Given the description of an element on the screen output the (x, y) to click on. 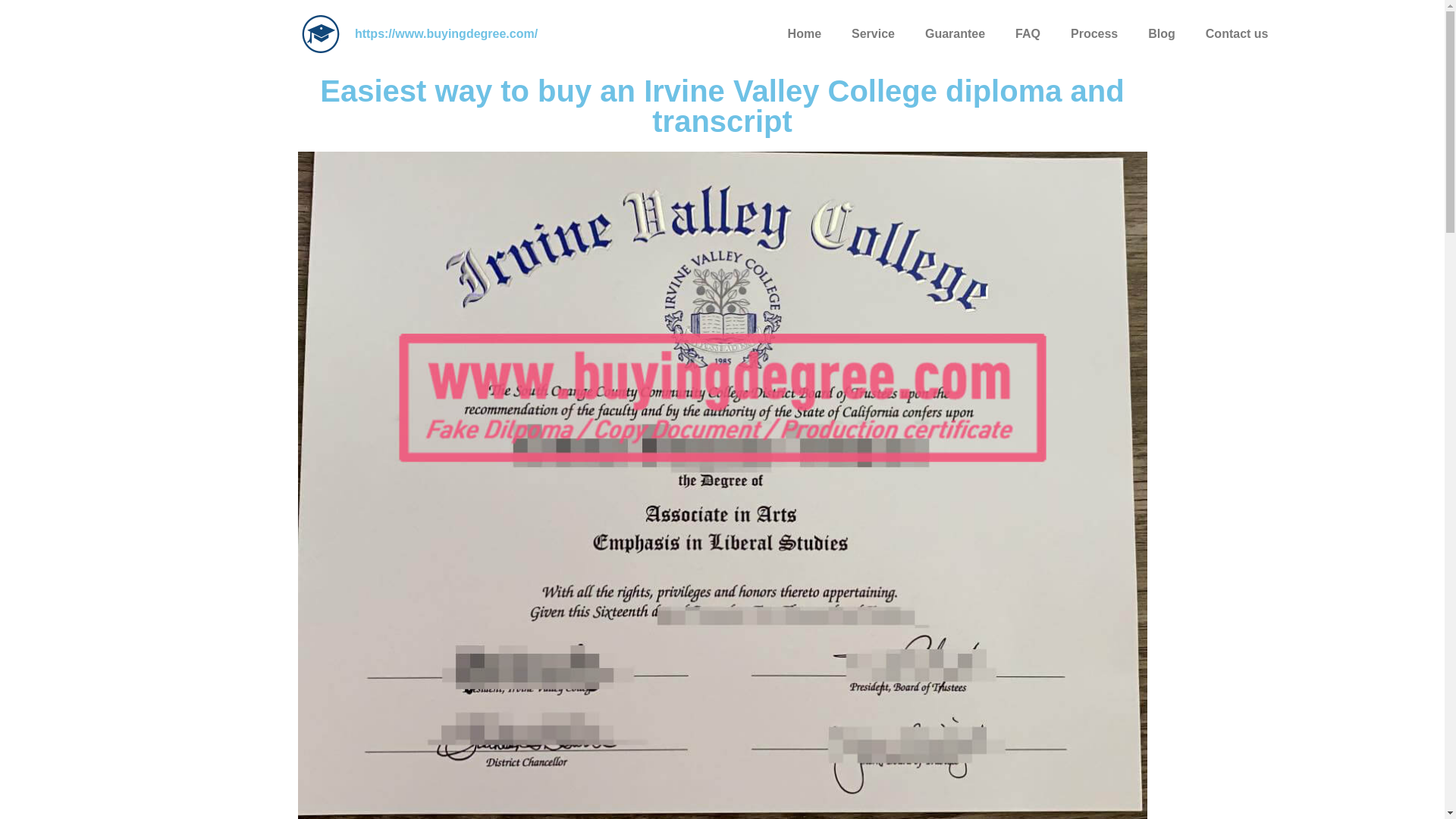
FAQ (1027, 33)
Blog (1161, 33)
Process (1093, 33)
Home (804, 33)
Contact us (1237, 33)
Service (872, 33)
Guarantee (955, 33)
buy fake diploma (320, 34)
